Given the description of an element on the screen output the (x, y) to click on. 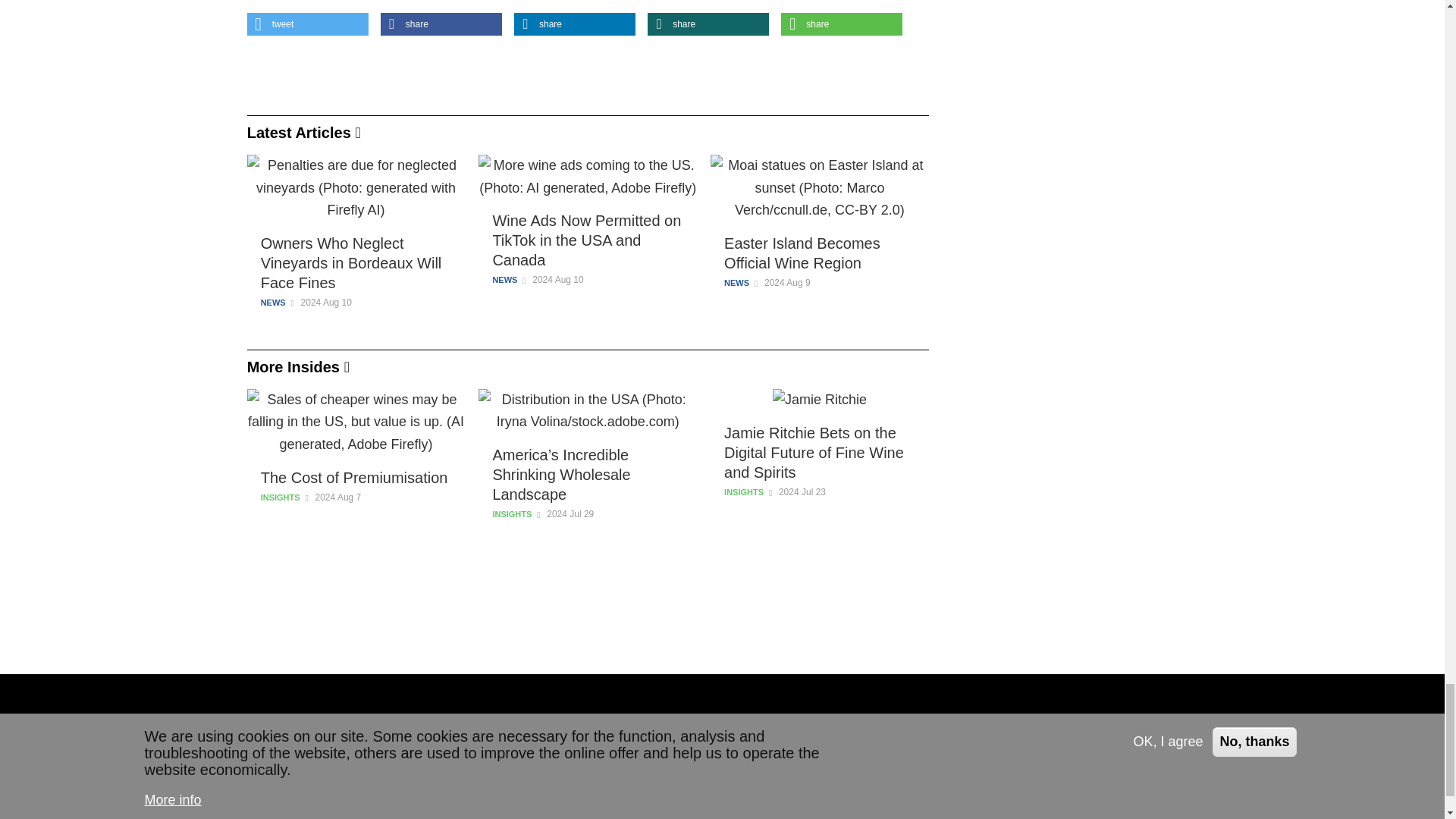
Wine Ads Now Permitted on TikTok in the USA and Canada (587, 240)
Share on Facebook (441, 24)
Easter Island Becomes Official Wine Region (819, 252)
tweet (307, 24)
INSIGHTS (279, 497)
Share on Whatsapp (841, 24)
Share on Twitter (307, 24)
Share on XING (707, 24)
share (573, 24)
The Cost of Premiumisation (355, 477)
